Given the description of an element on the screen output the (x, y) to click on. 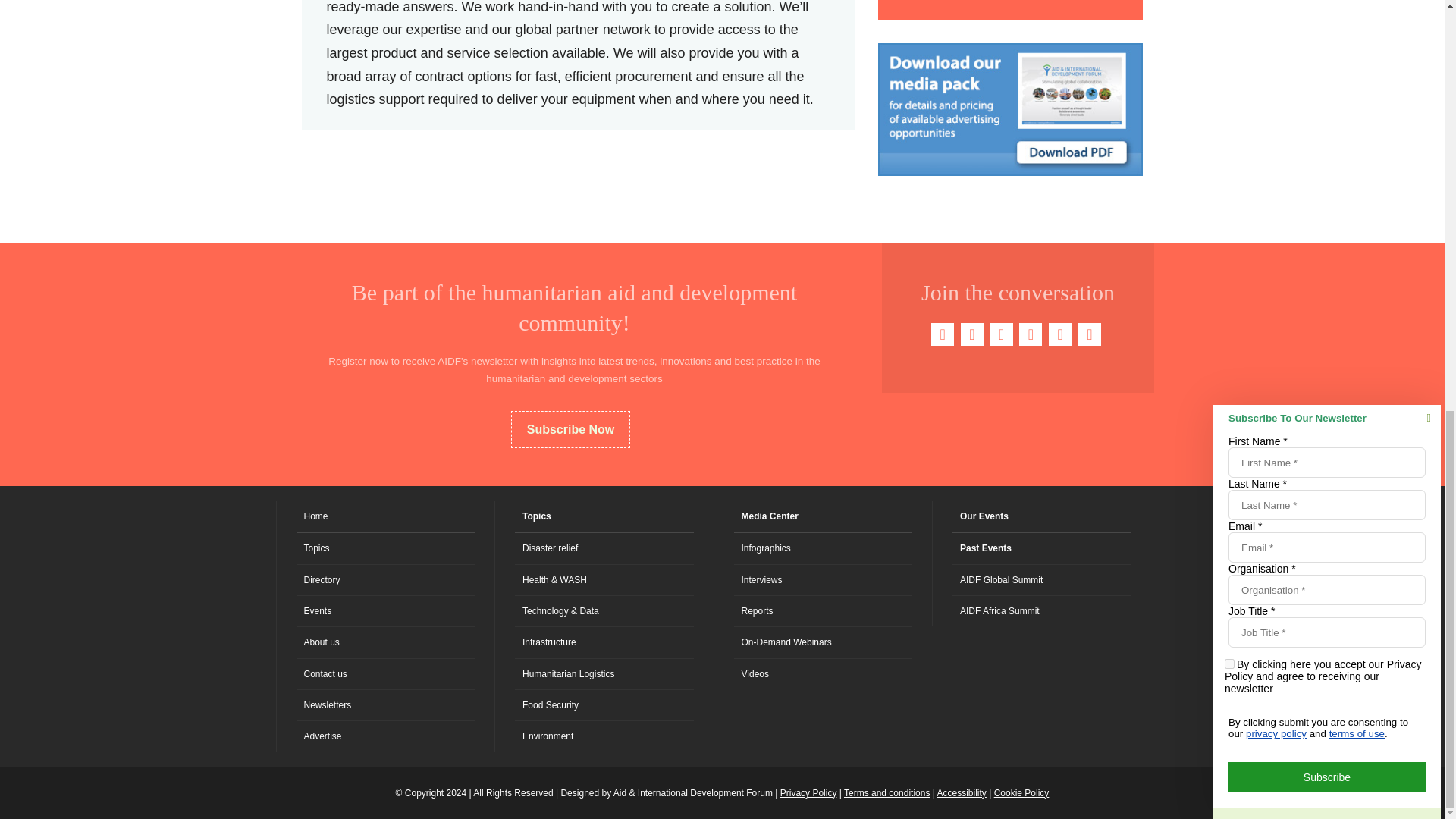
Youtube (1030, 333)
Instagram (1089, 333)
Facebook (942, 333)
Linkedin (1001, 333)
LinkedIn Group (1059, 333)
Twitter (972, 333)
